Given the description of an element on the screen output the (x, y) to click on. 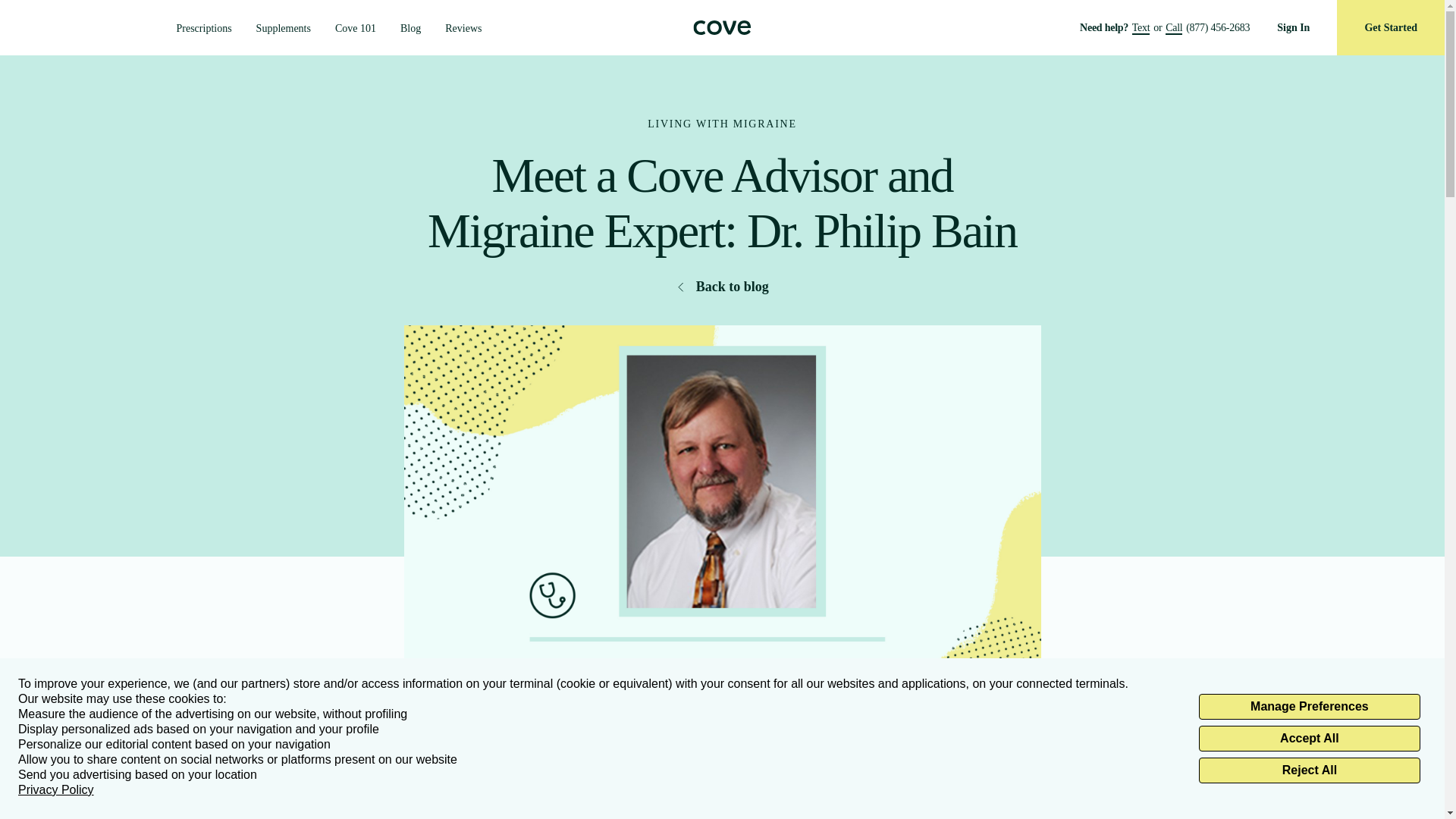
Prescriptions (203, 28)
Sign In (1292, 27)
Reject All (1309, 769)
Manage Preferences (1309, 706)
Accept All (1309, 738)
Supplements (283, 28)
Blog (410, 28)
Text (1141, 28)
Call (1174, 28)
Cove 101 (354, 28)
Back to blog (721, 287)
Reviews (463, 28)
Privacy Policy (55, 789)
